Given the description of an element on the screen output the (x, y) to click on. 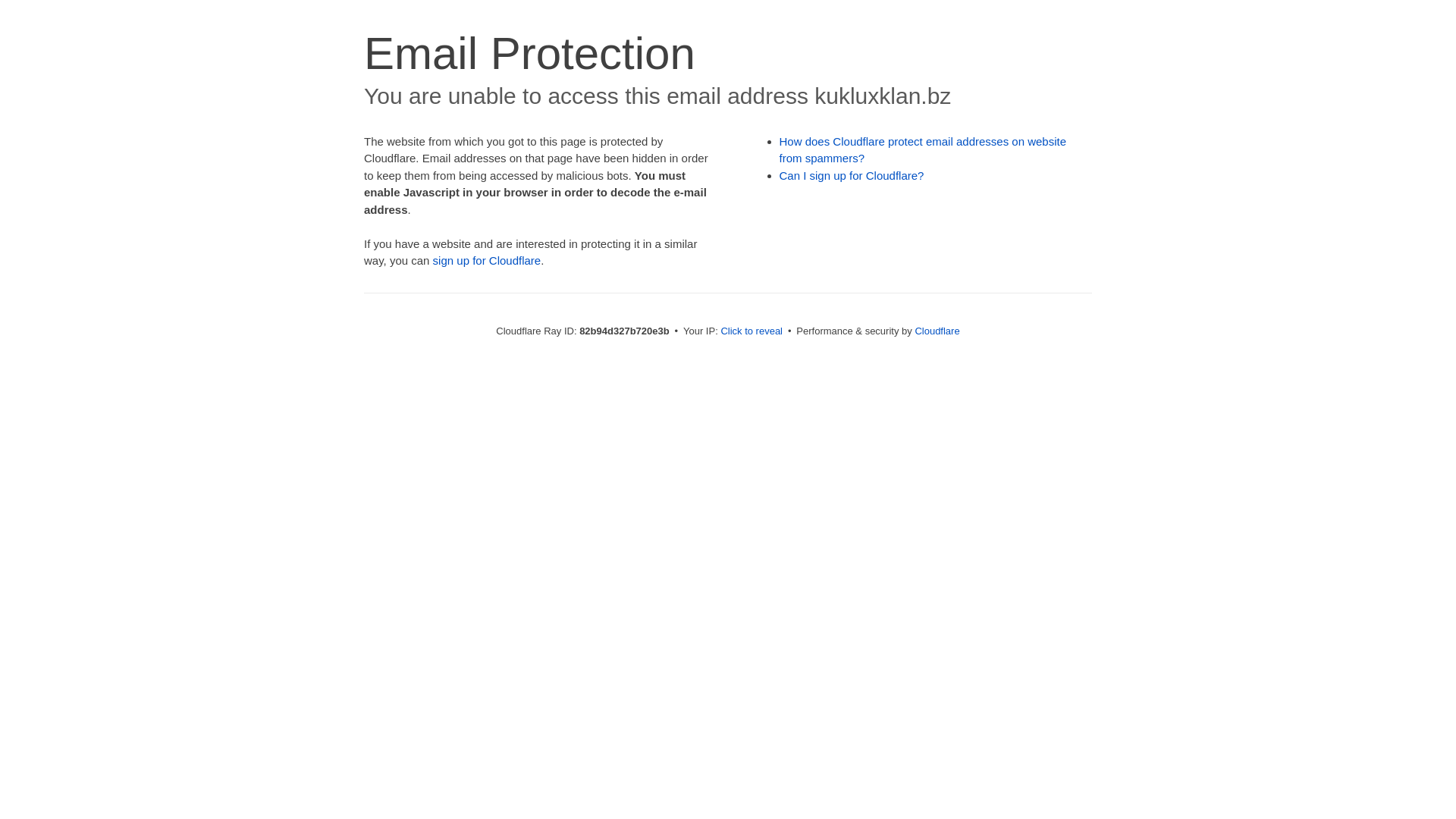
Click to reveal Element type: text (751, 330)
Cloudflare Element type: text (936, 330)
Can I sign up for Cloudflare? Element type: text (851, 175)
sign up for Cloudflare Element type: text (487, 260)
